Given the description of an element on the screen output the (x, y) to click on. 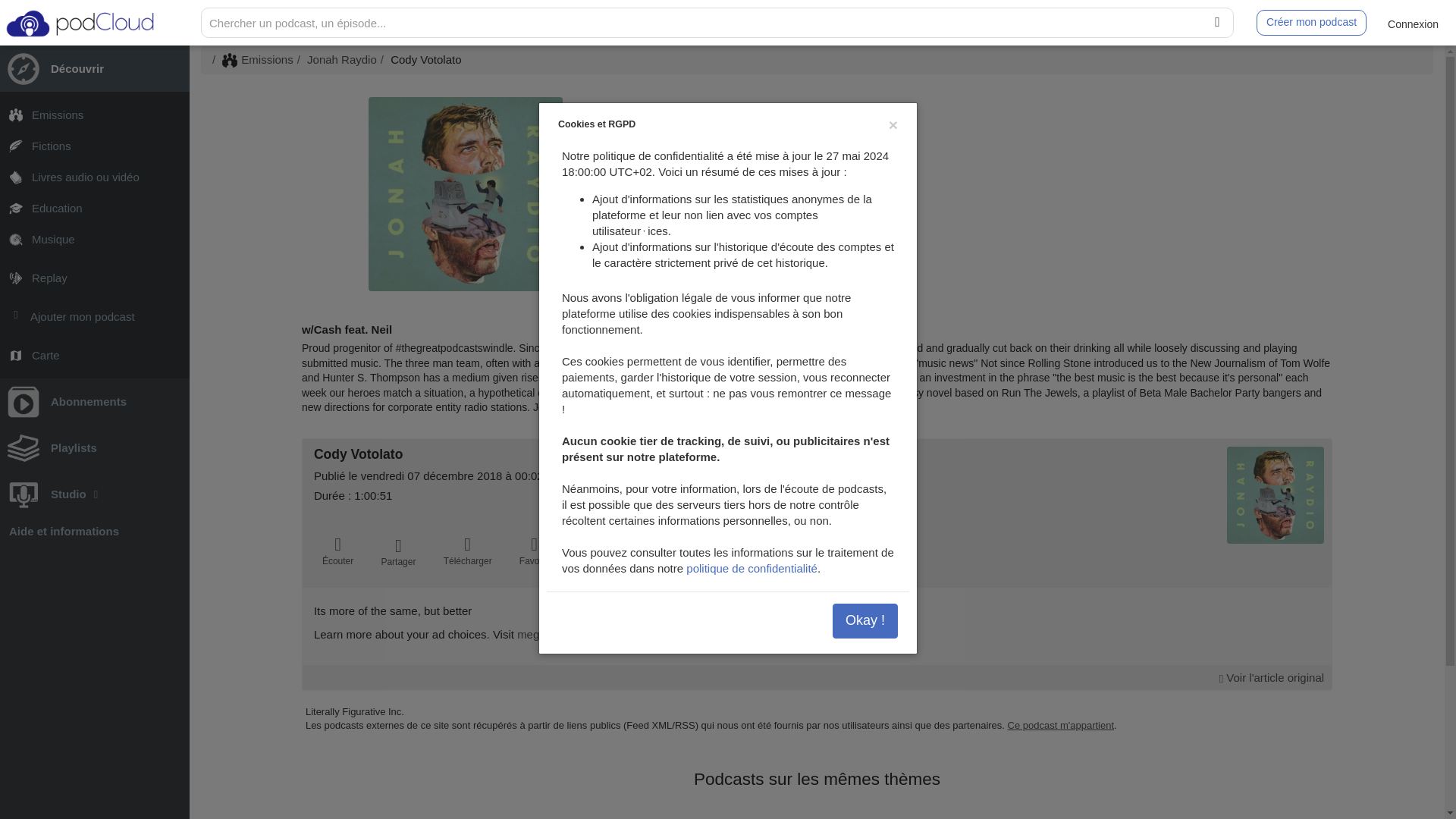
Fictions (94, 145)
iTunes (863, 197)
Emissions (94, 114)
Bertrand (713, 234)
Connexion (1412, 22)
Musique (94, 238)
Studio (94, 493)
Contact (808, 197)
Site Web (780, 197)
Ajouter mon podcast (94, 316)
Abonnements (94, 401)
Education (94, 207)
Flux RSS (836, 197)
Carte (94, 355)
Replay (94, 277)
